Given the description of an element on the screen output the (x, y) to click on. 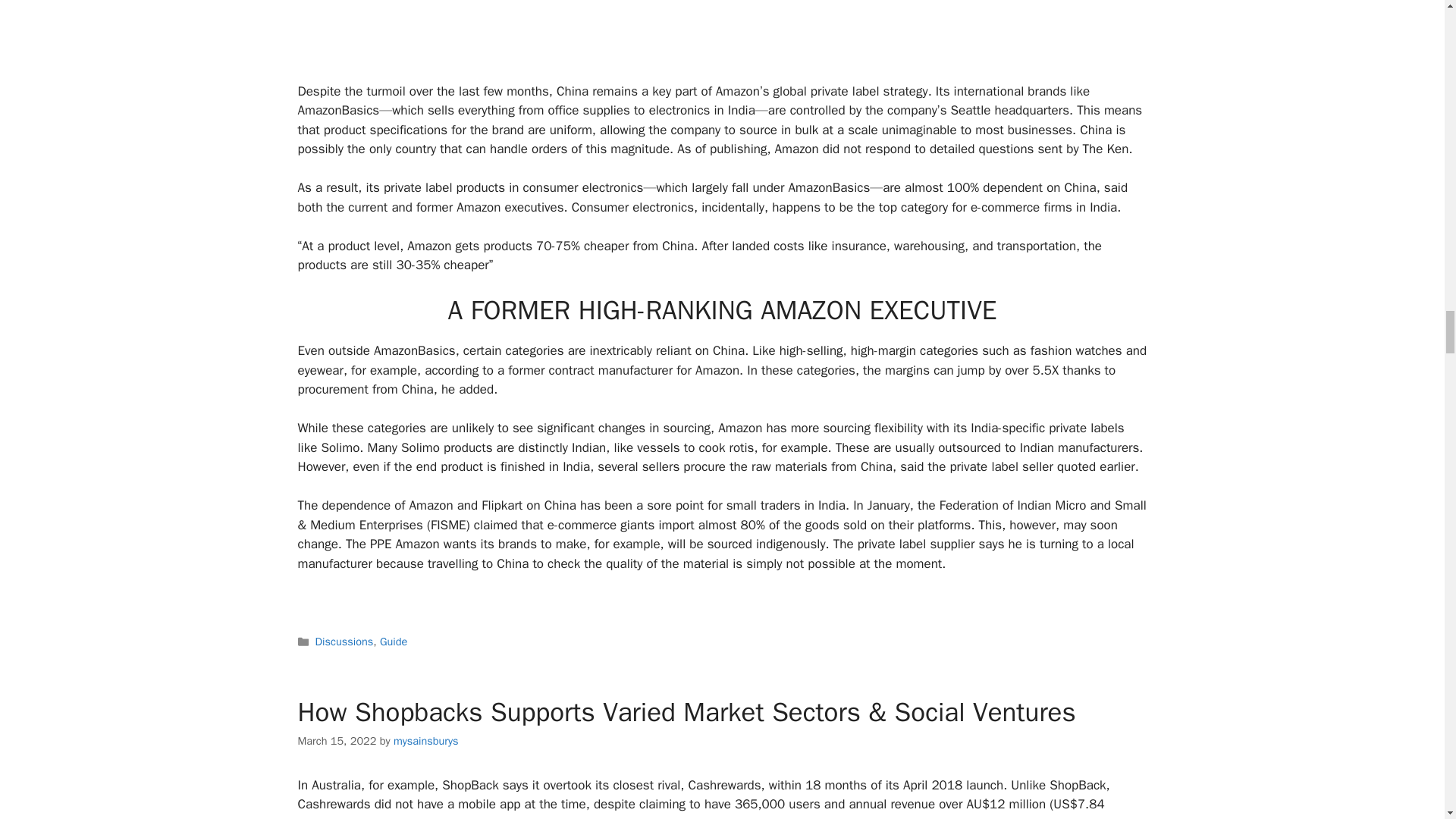
Guide (393, 641)
Discussions (344, 641)
mysainsburys (425, 740)
View all posts by mysainsburys (425, 740)
